Given the description of an element on the screen output the (x, y) to click on. 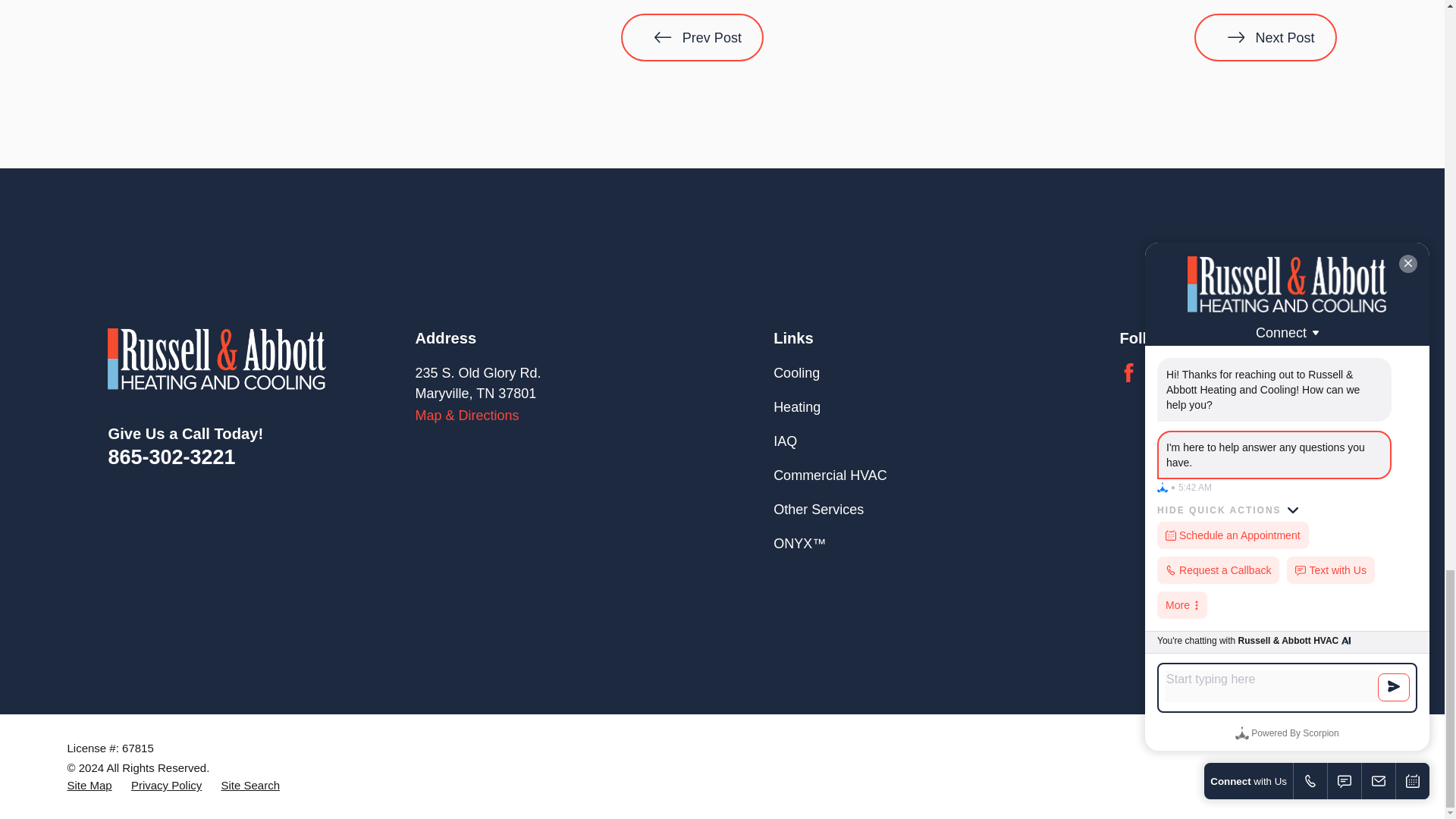
Facebook (1128, 372)
Home (216, 358)
